Given the description of an element on the screen output the (x, y) to click on. 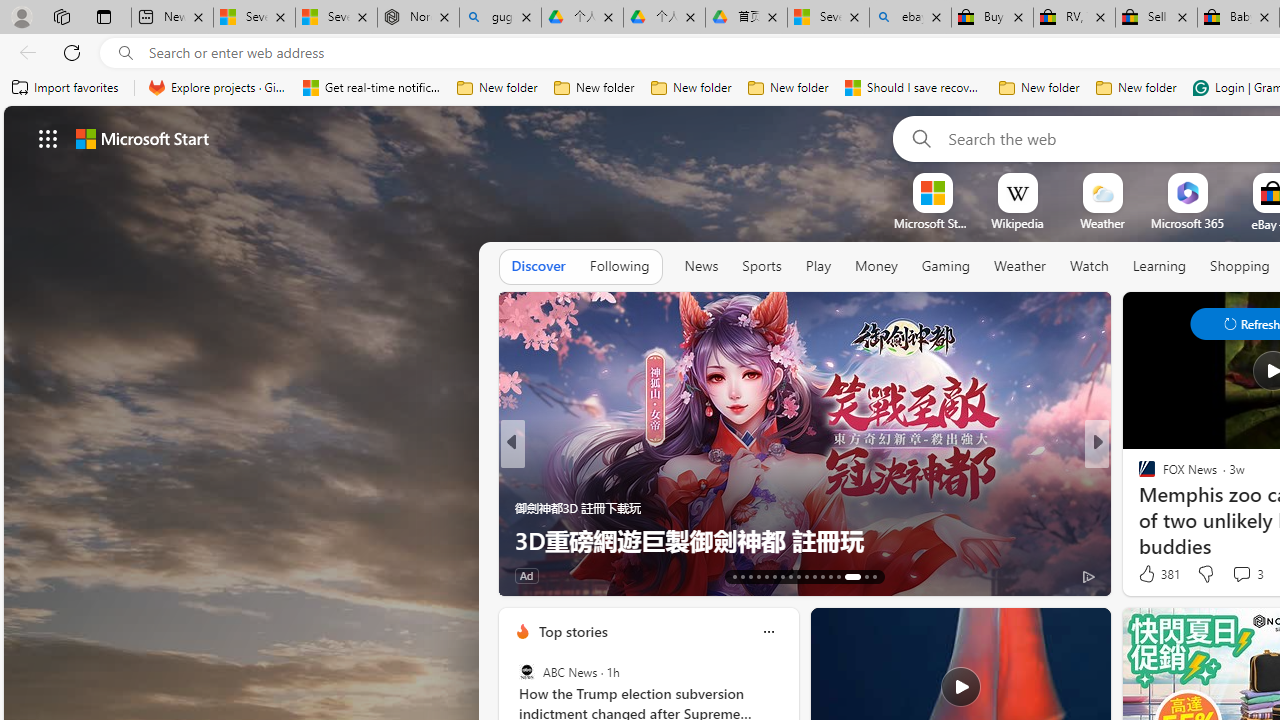
guge yunpan - Search (500, 17)
Dislike (1204, 574)
AutomationID: tab-16 (757, 576)
Buy Auto Parts & Accessories | eBay (992, 17)
Import favorites (65, 88)
Top stories (572, 631)
News (701, 265)
Wikipedia (1017, 223)
Sell worldwide with eBay (1156, 17)
AutomationID: tab-19 (782, 576)
View comments 74 Comment (11, 575)
Money (875, 265)
